Given the description of an element on the screen output the (x, y) to click on. 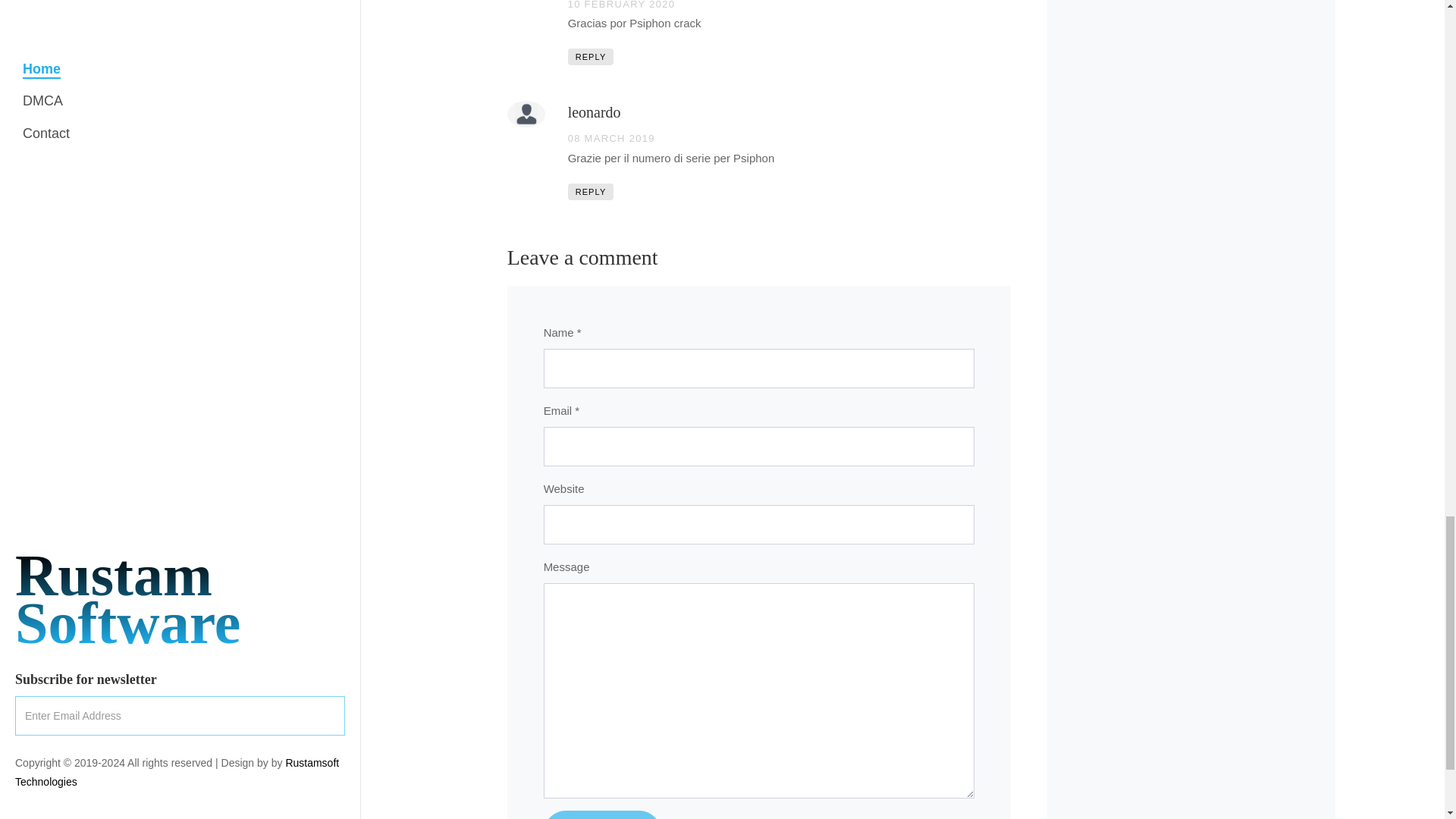
Post Comment (602, 814)
REPLY (590, 191)
REPLY (590, 56)
Post Comment (602, 814)
